Given the description of an element on the screen output the (x, y) to click on. 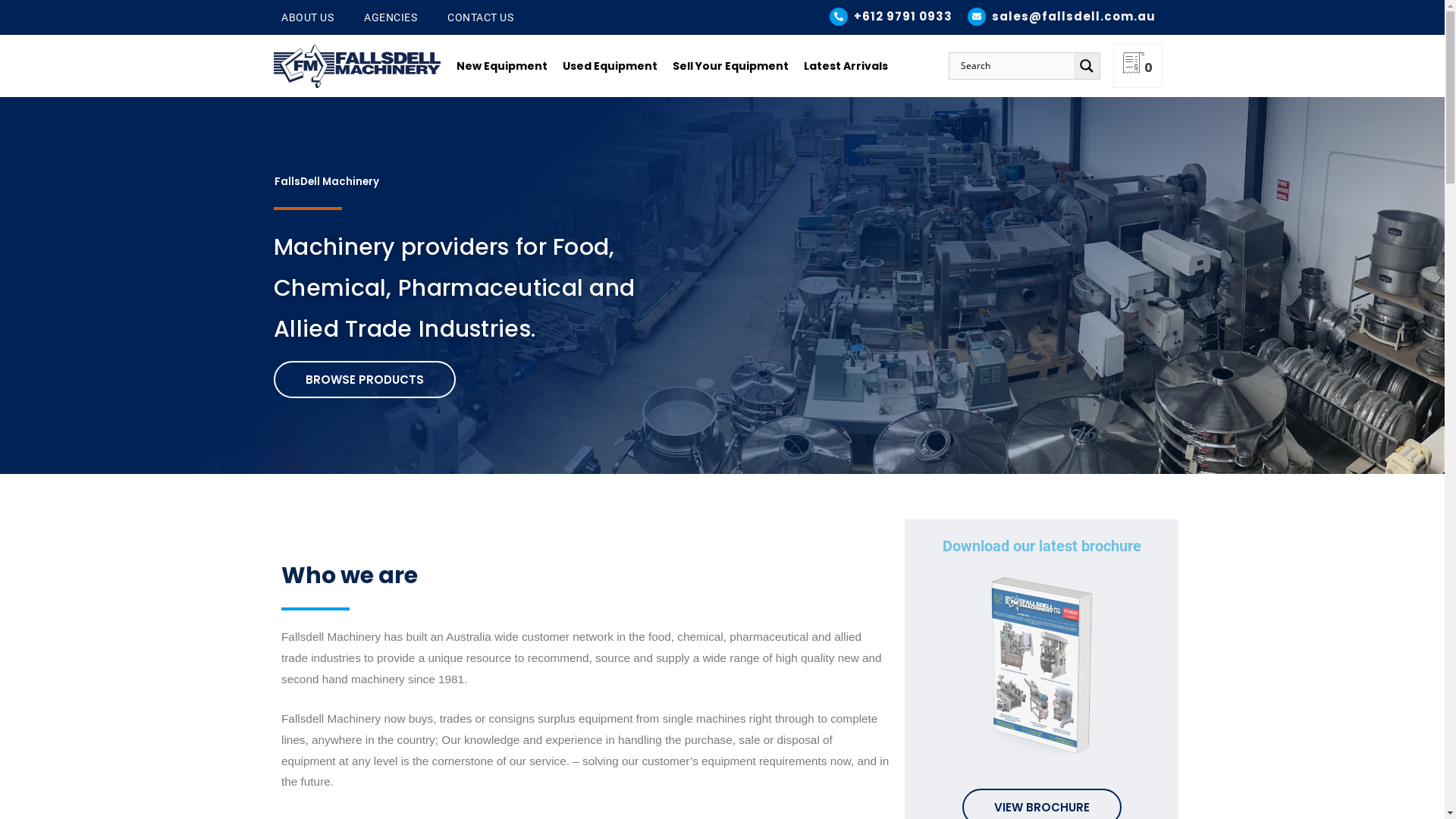
AGENCIES Element type: text (390, 17)
0 Element type: text (1137, 67)
Sell Your Equipment Element type: text (730, 65)
Used Equipment Element type: text (610, 65)
Latest Arrivals Element type: text (845, 65)
New Equipment Element type: text (501, 65)
CONTACT US Element type: text (480, 17)
sales@fallsdell.com.au Element type: text (1073, 16)
ABOUT US Element type: text (307, 17)
BROWSE PRODUCTS Element type: text (364, 379)
+612 9791 0933 Element type: text (902, 16)
